Given the description of an element on the screen output the (x, y) to click on. 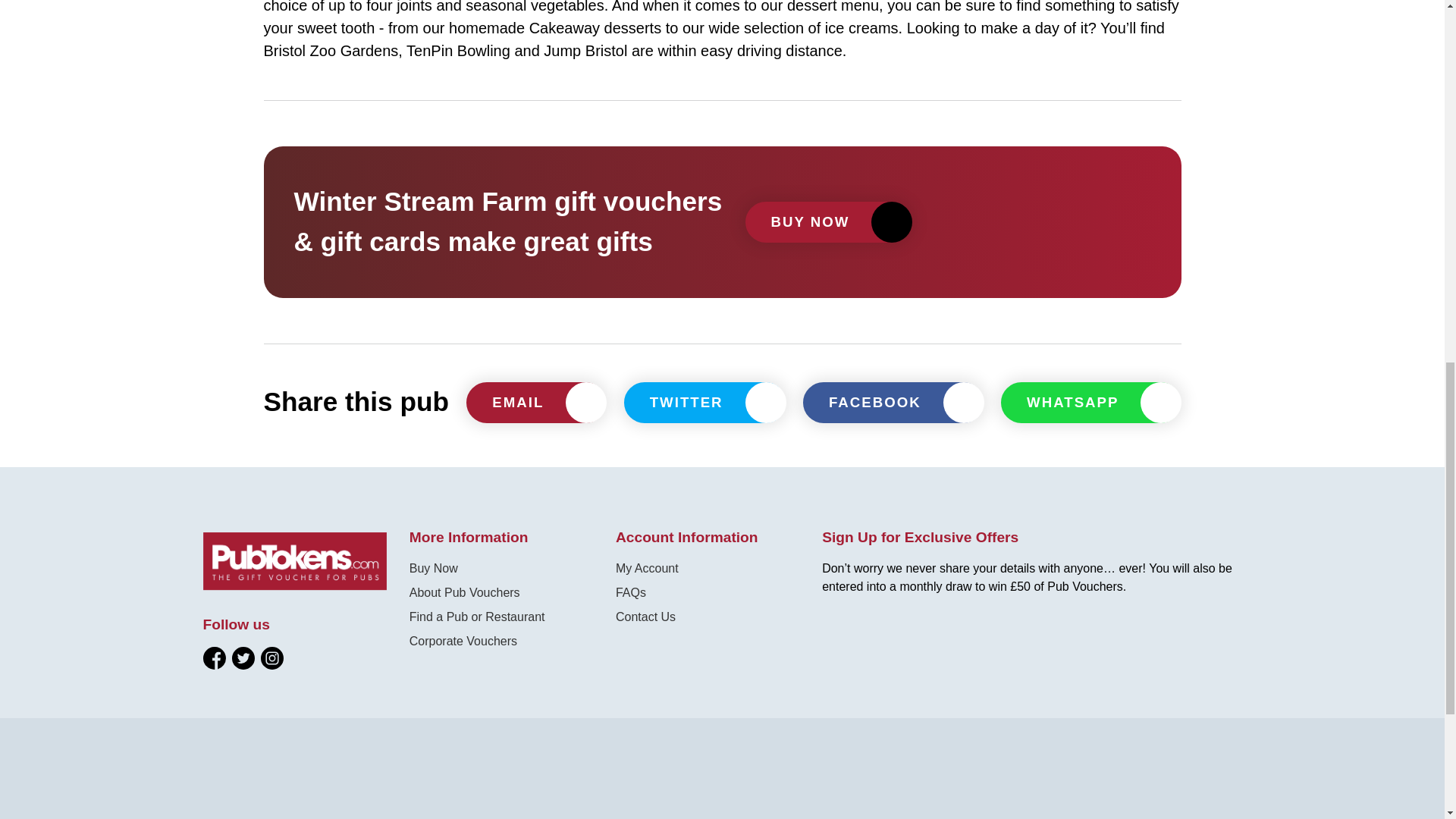
About Pub Vouchers (464, 592)
TWITTER (705, 402)
Buy Now (433, 567)
WHATSAPP (1090, 402)
FACEBOOK (893, 402)
Corporate Vouchers (462, 640)
EMAIL (535, 402)
Find a Pub or Restaurant (476, 616)
BUY NOW (827, 221)
